Given the description of an element on the screen output the (x, y) to click on. 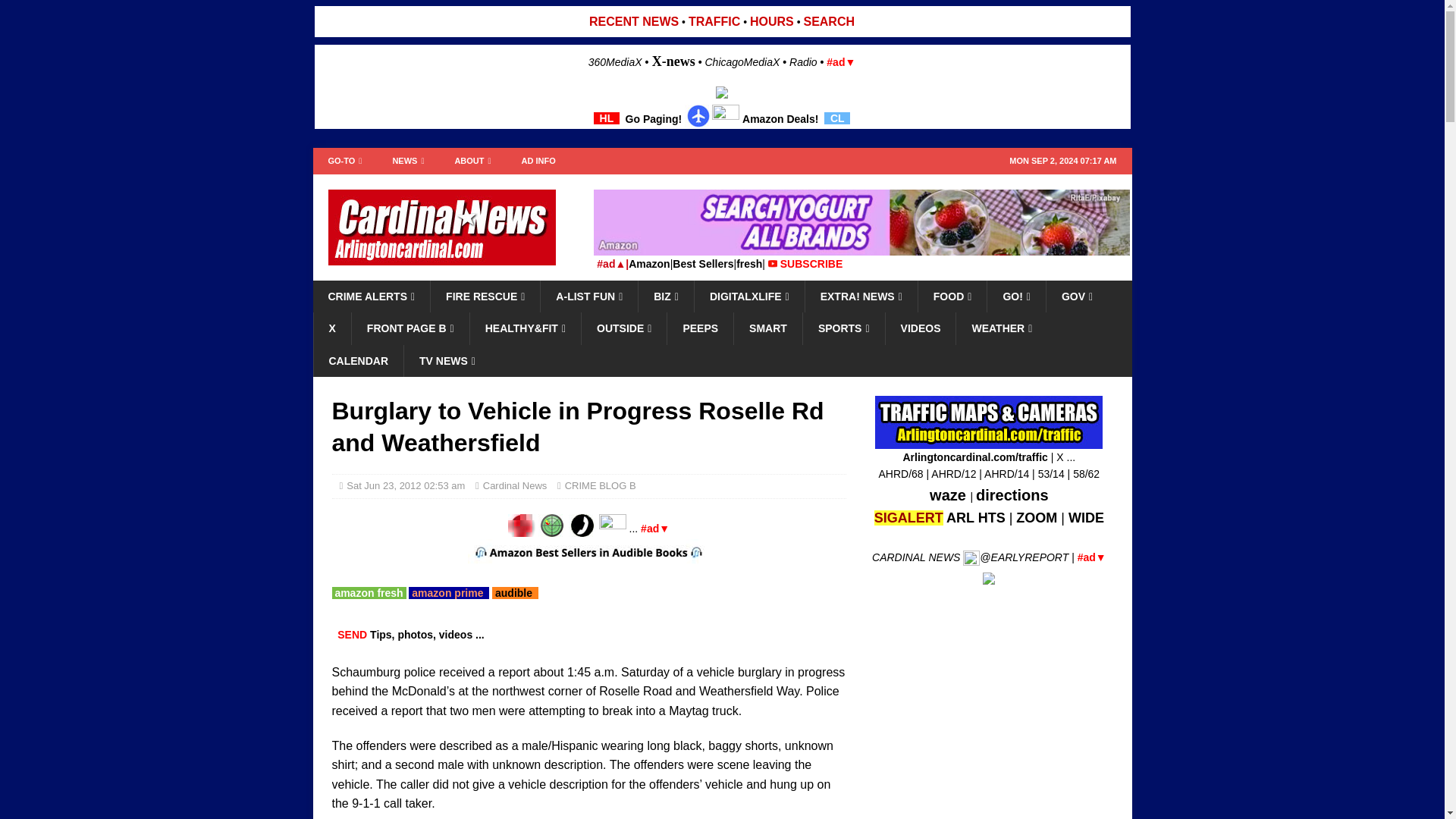
  CL   (837, 118)
RECENT NEWS (633, 21)
GO-TO (345, 161)
ChicagoMediaX (742, 61)
Radio (802, 61)
SEARCH (828, 21)
HOURS (771, 21)
TRAFFIC (713, 21)
X-news (673, 61)
NEWS (408, 161)
